Given the description of an element on the screen output the (x, y) to click on. 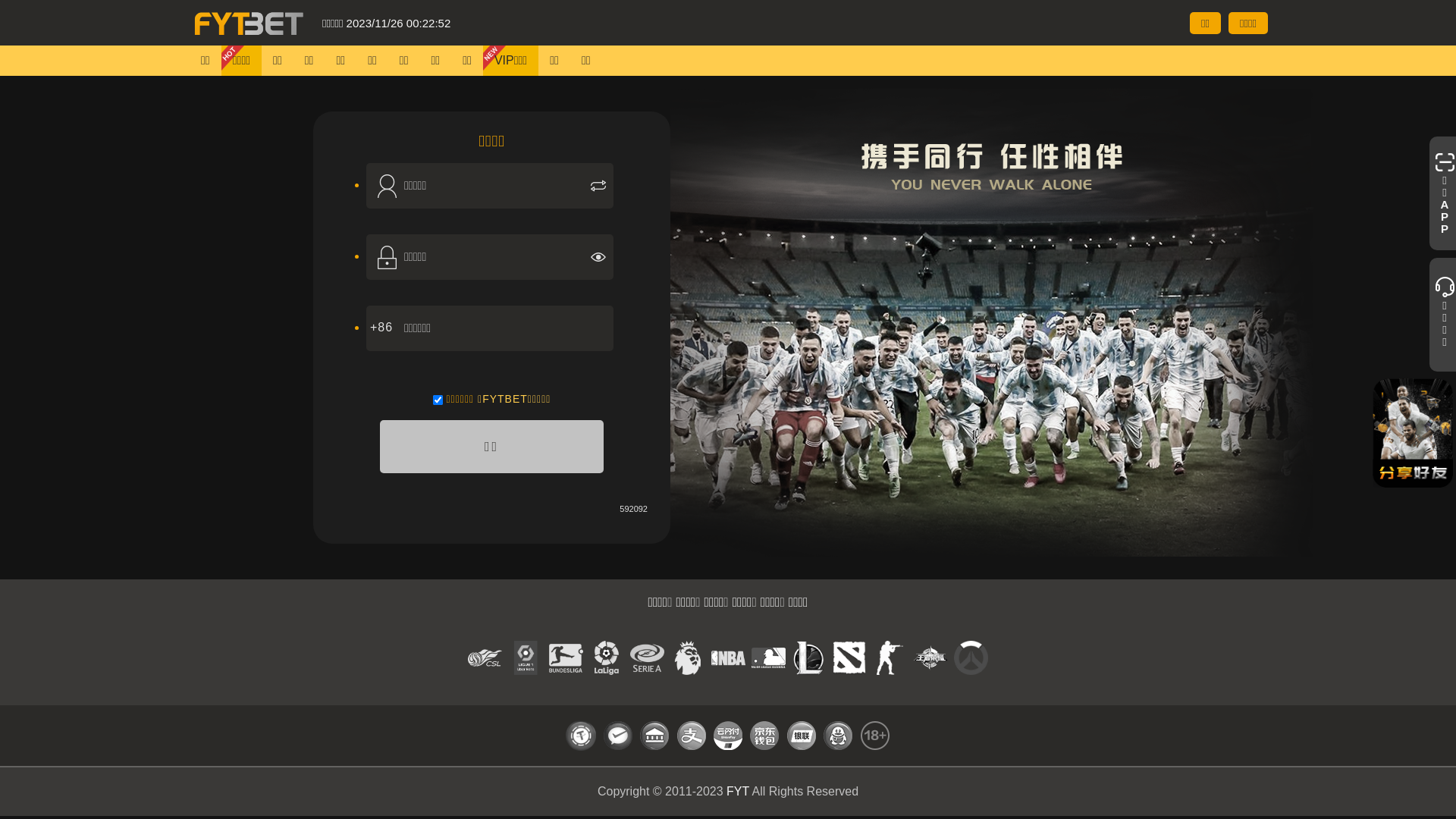
FYT Element type: text (737, 790)
